Given the description of an element on the screen output the (x, y) to click on. 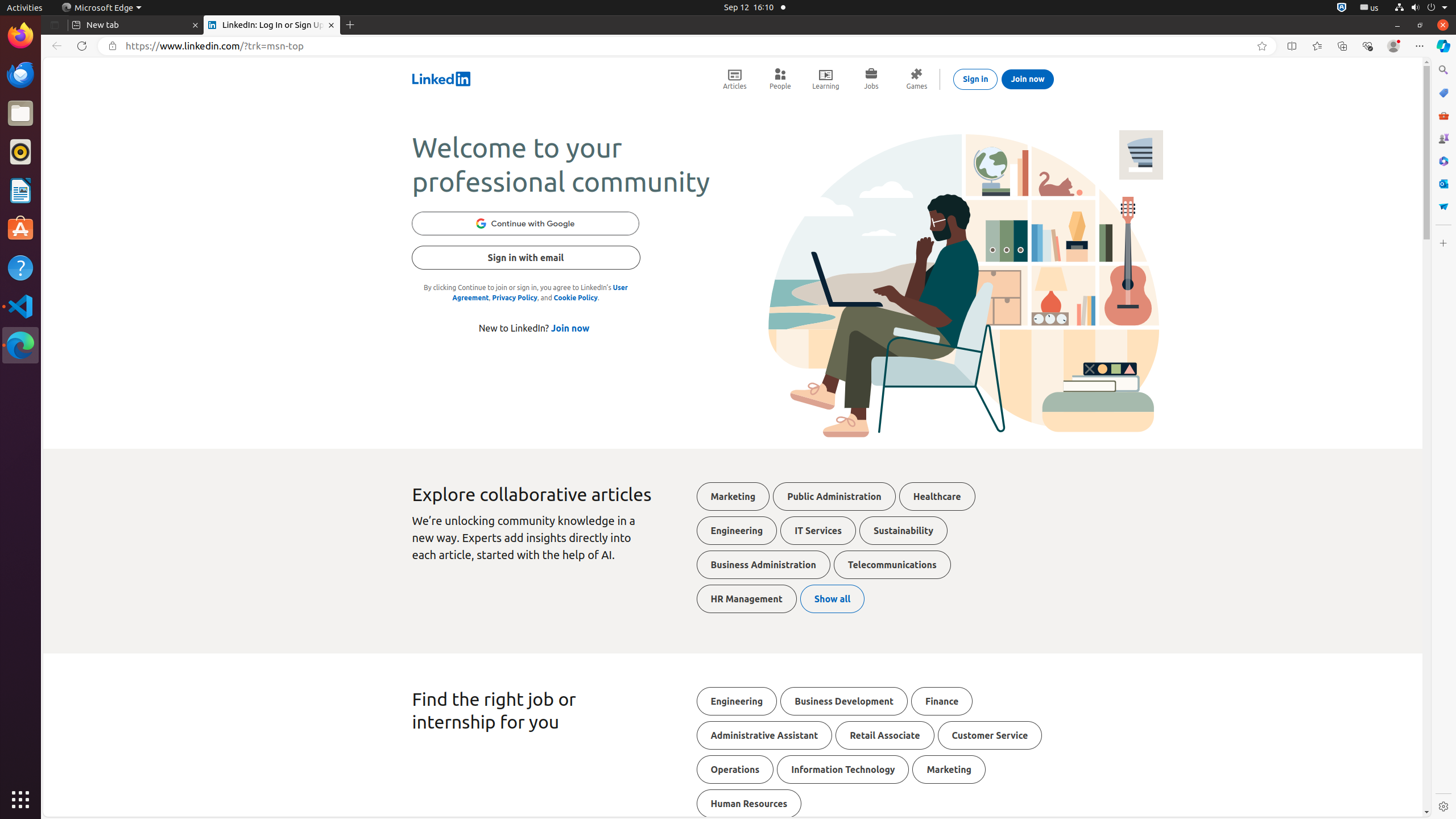
Finance Element type: link (941, 700)
Help Element type: push-button (20, 267)
Files Element type: push-button (20, 113)
Tools Element type: push-button (1443, 115)
Business Development Element type: link (843, 700)
